Given the description of an element on the screen output the (x, y) to click on. 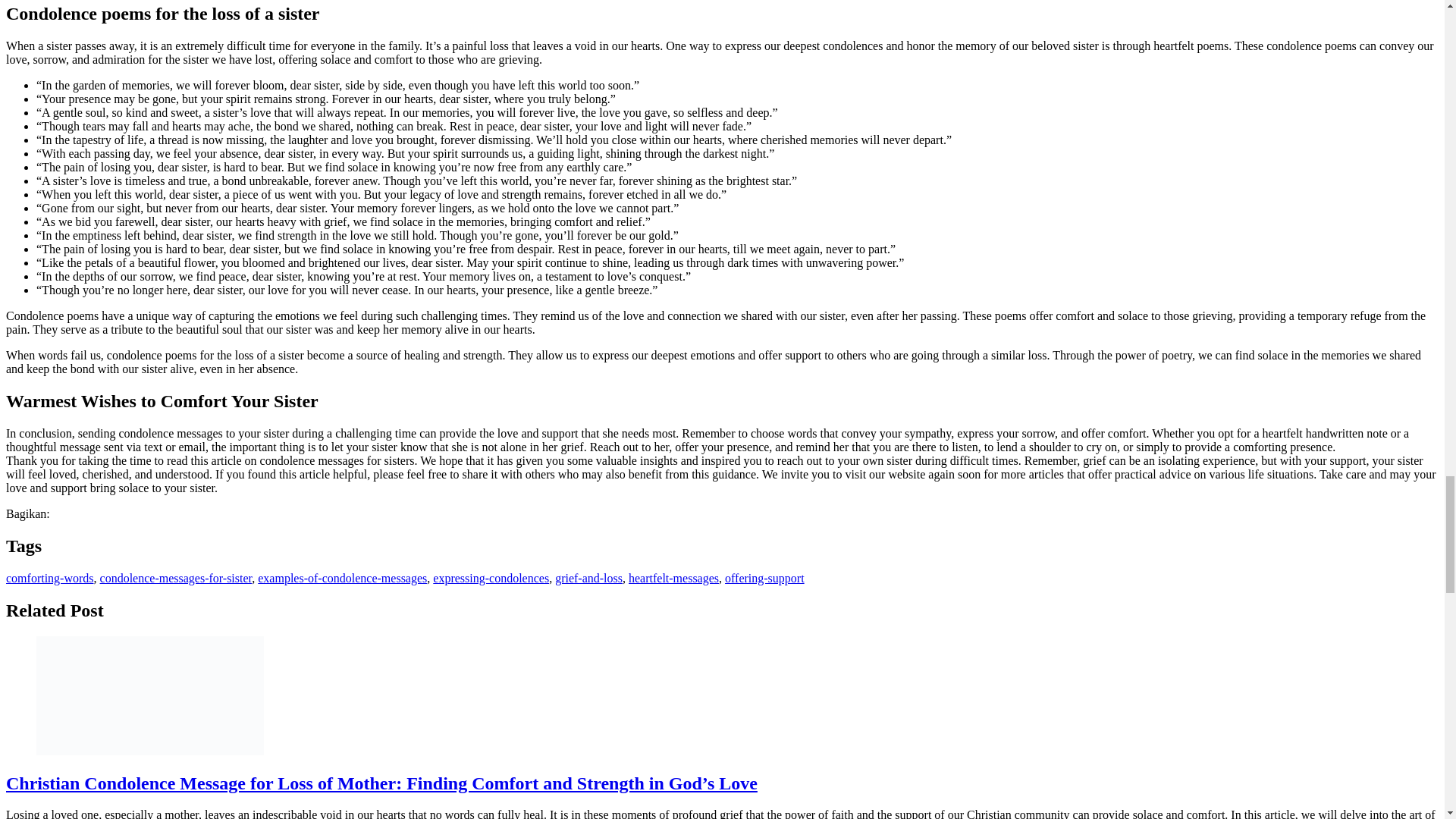
examples-of-condolence-messages (341, 577)
comforting-words (49, 577)
condolence-messages-for-sister (175, 577)
expressing-condolences (490, 577)
heartfelt-messages (673, 577)
grief-and-loss (588, 577)
offering-support (765, 577)
